Given the description of an element on the screen output the (x, y) to click on. 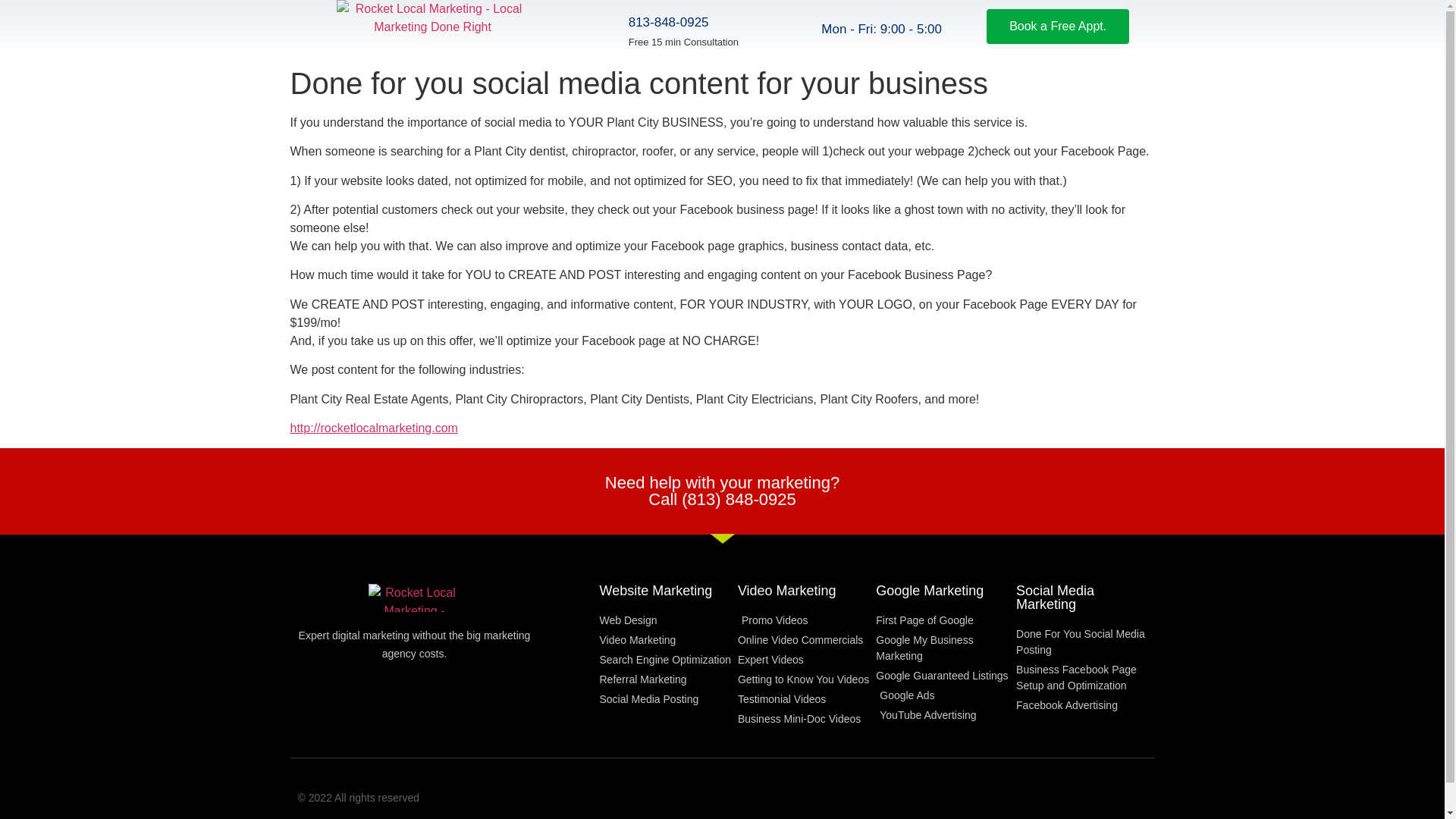
Book a Free Appt. (1058, 26)
